Given the description of an element on the screen output the (x, y) to click on. 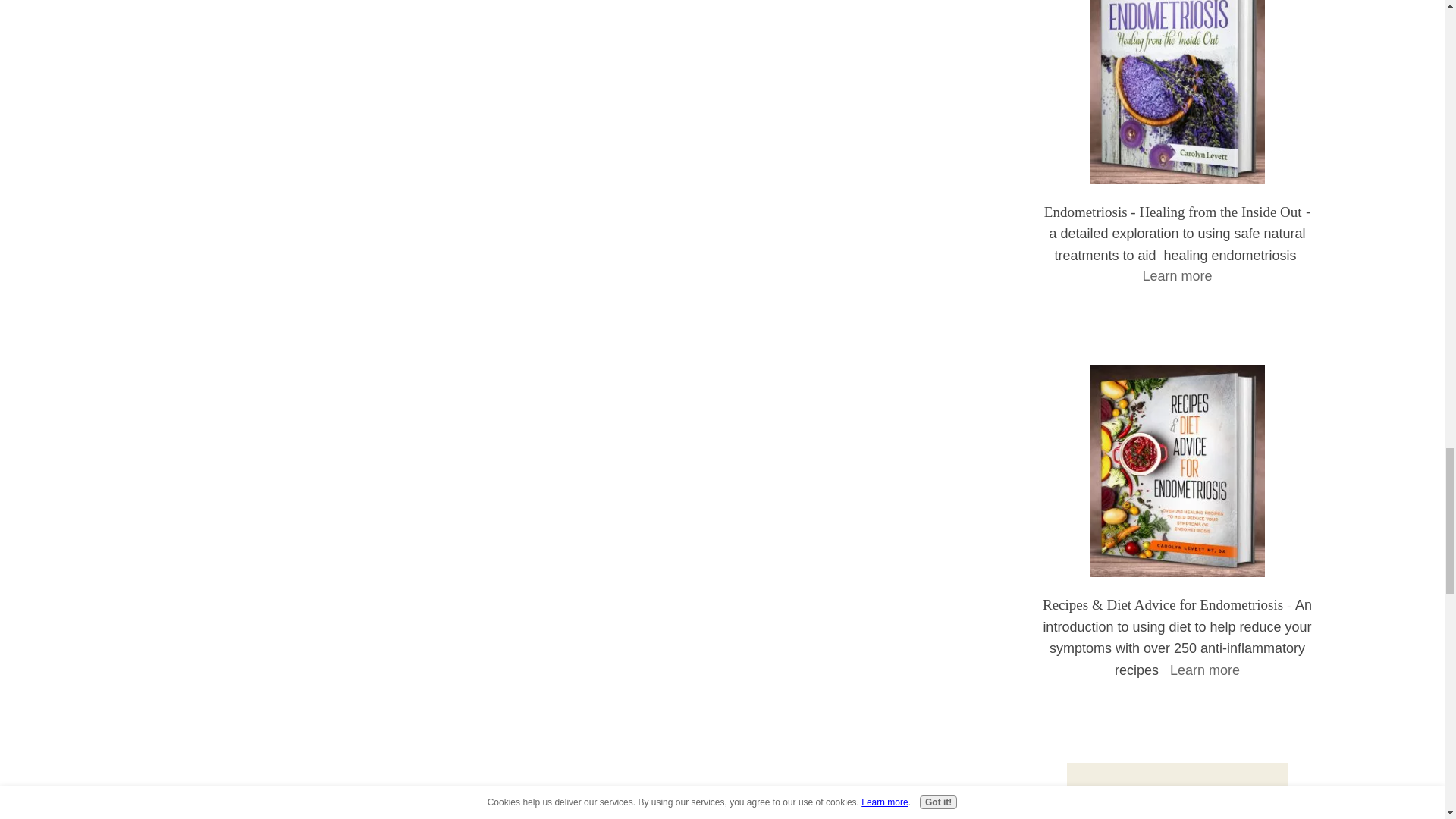
Go to Healing endometriosis naturally book (1177, 179)
Go to Endometriosis diet book (1177, 572)
